Given the description of an element on the screen output the (x, y) to click on. 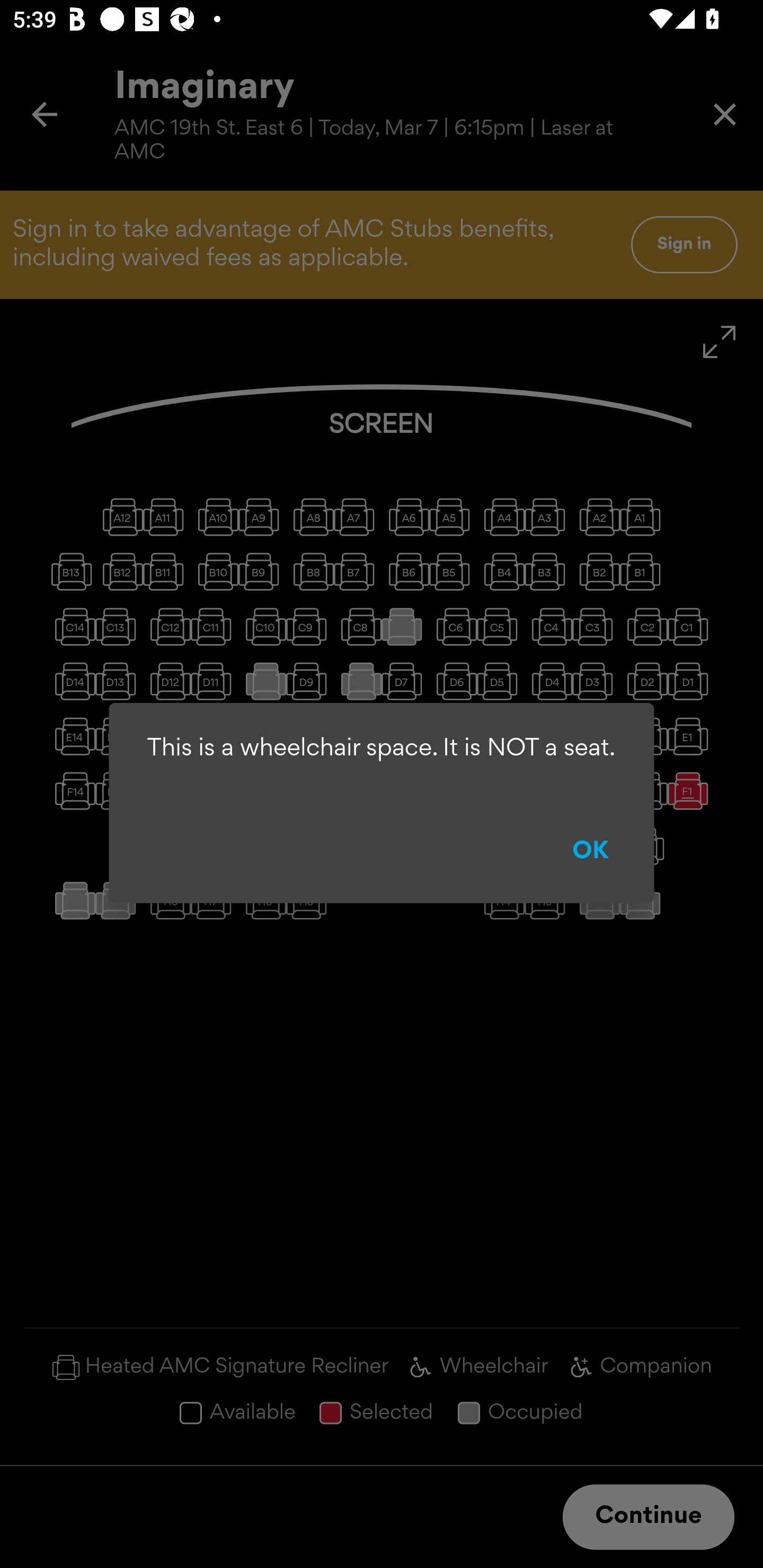
OK (590, 851)
